Given the description of an element on the screen output the (x, y) to click on. 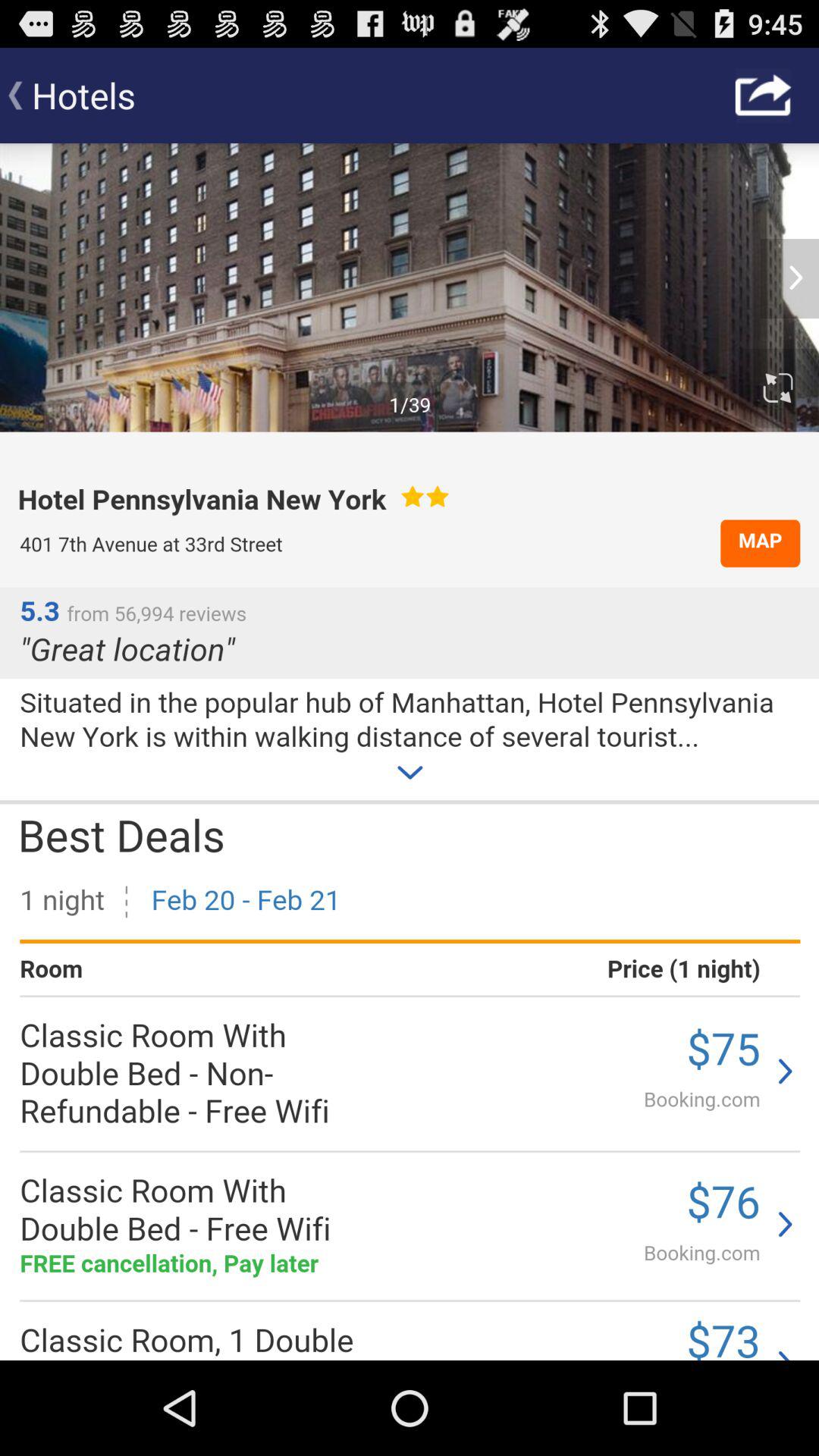
scroll through deals (409, 751)
